Given the description of an element on the screen output the (x, y) to click on. 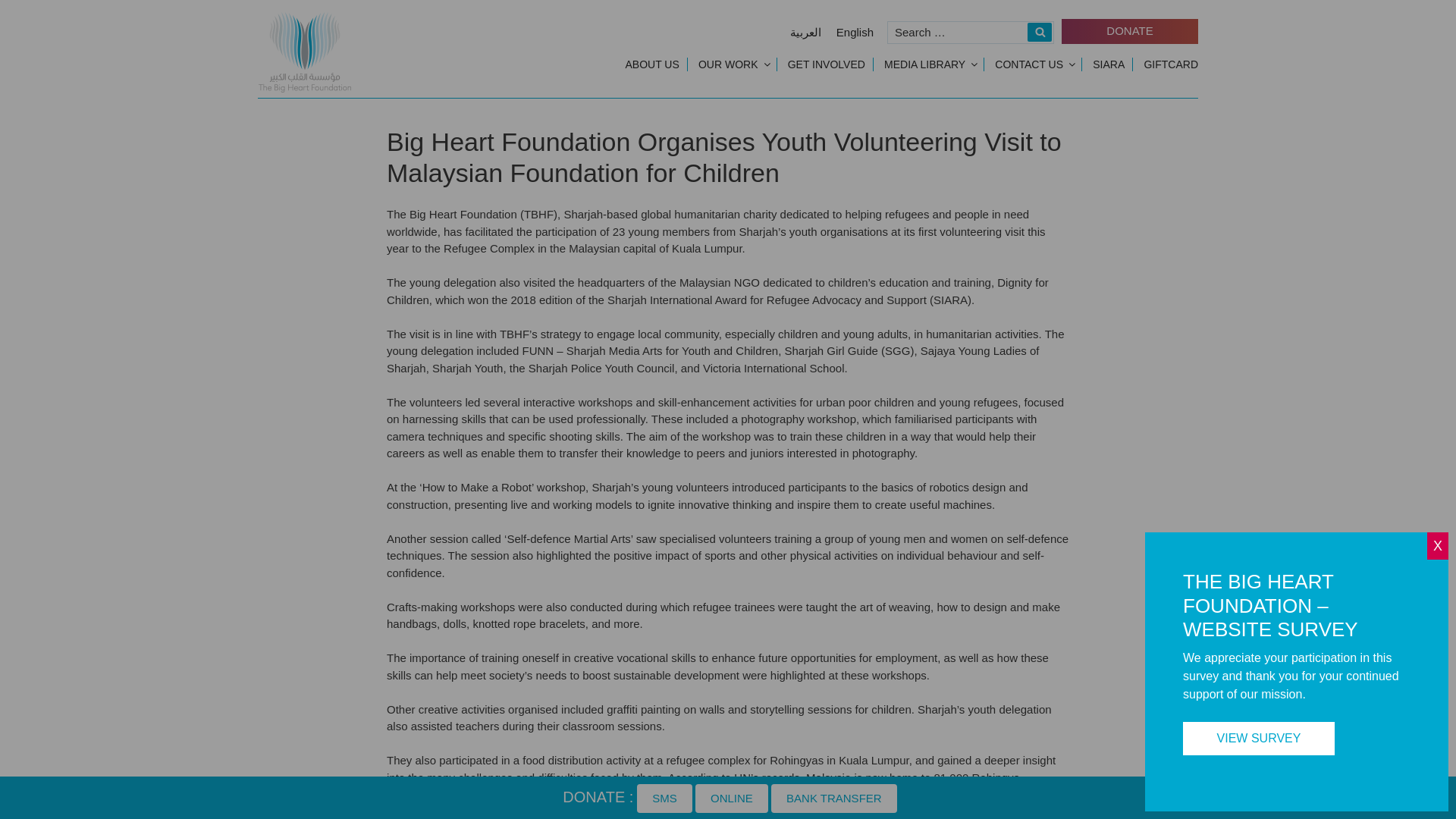
Search (1039, 31)
OUR WORK (733, 64)
ABOUT US (651, 64)
CONTACT US (1034, 64)
English (854, 31)
MEDIA LIBRARY (930, 64)
DONATE (1129, 31)
GET INVOLVED (826, 64)
